Given the description of an element on the screen output the (x, y) to click on. 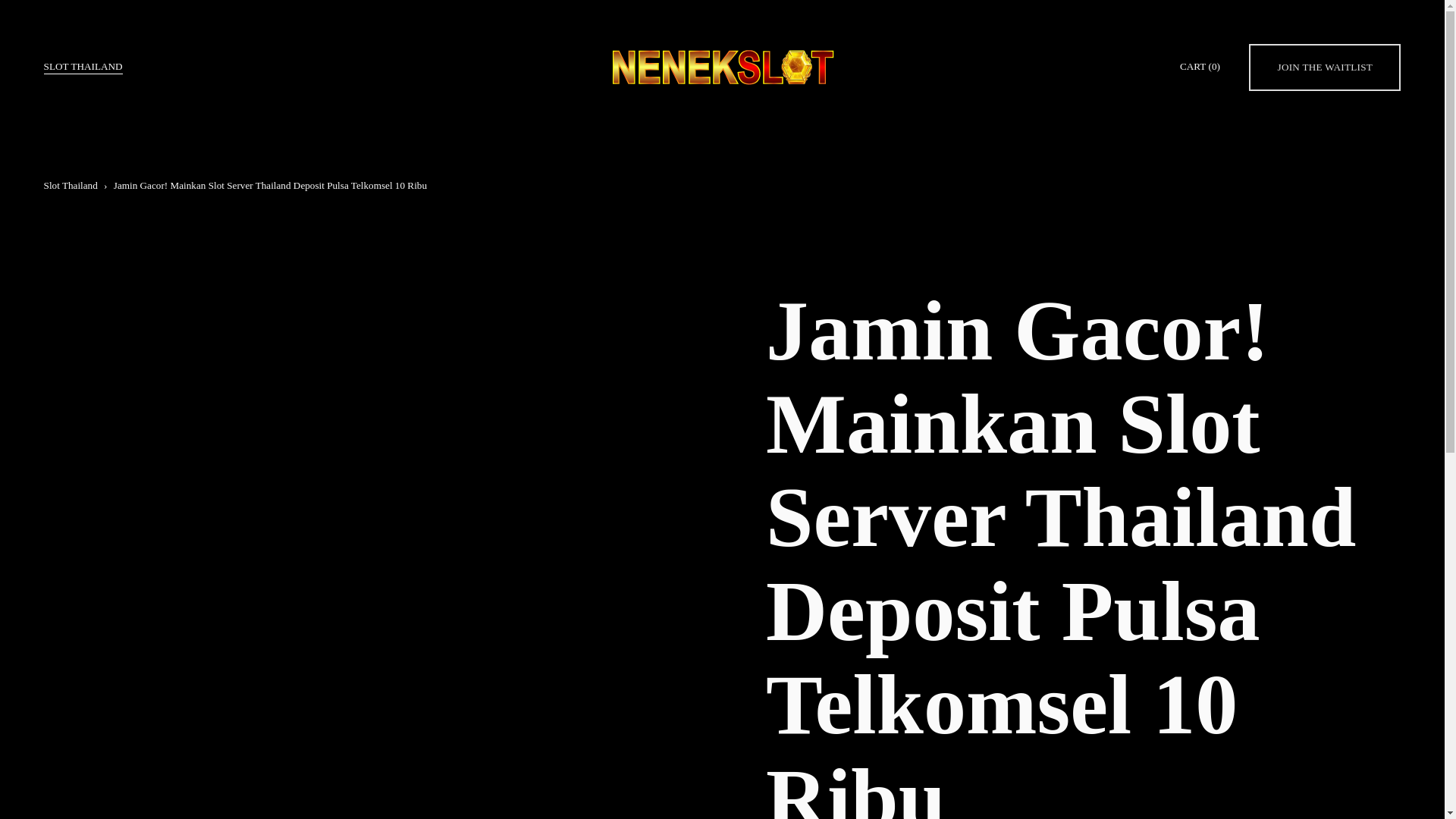
Slot Thailand (70, 184)
SLOT THAILAND (82, 66)
JOIN THE WAITLIST (1324, 67)
